Given the description of an element on the screen output the (x, y) to click on. 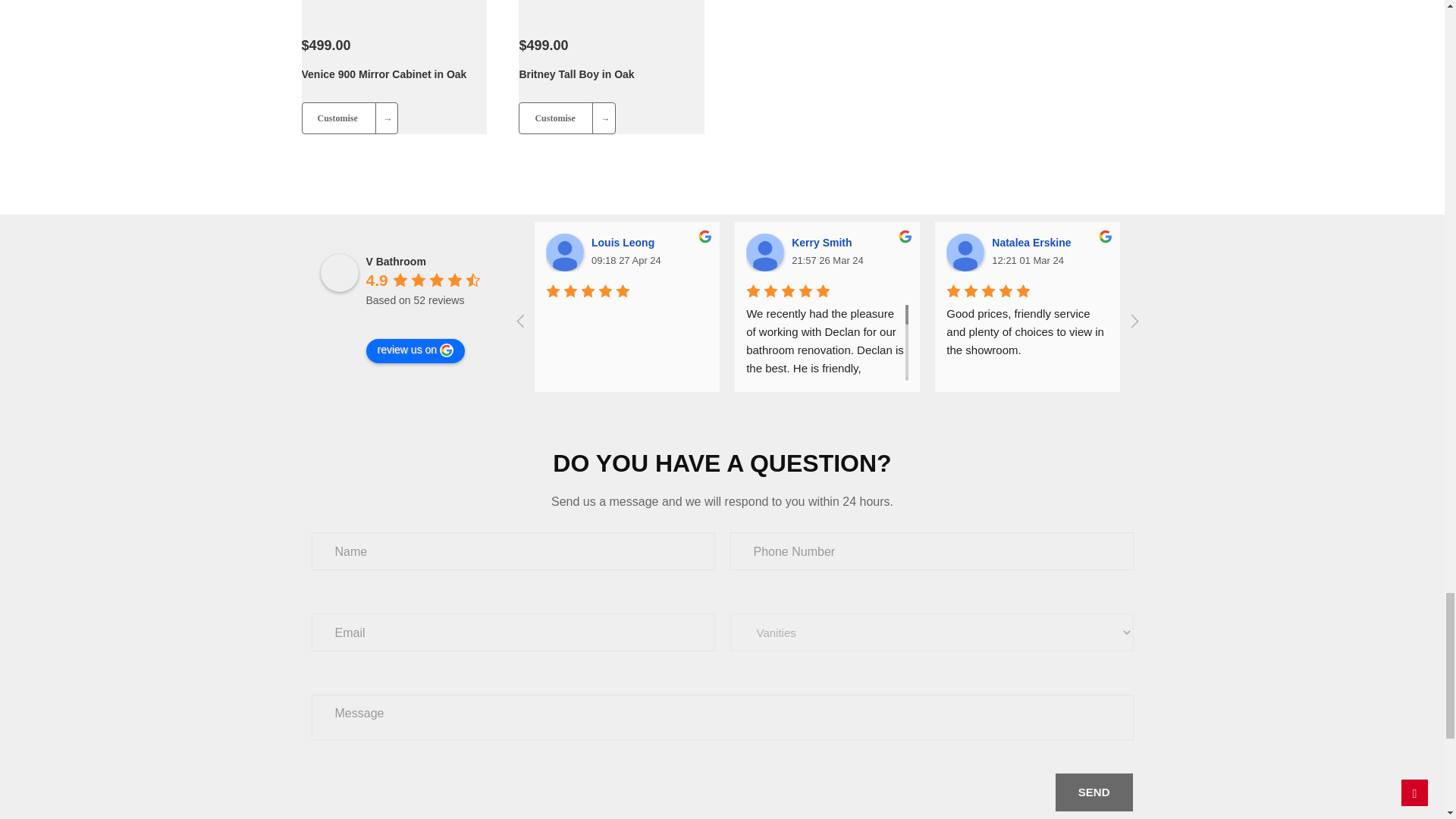
Louis Leong (564, 252)
V Bathroom (339, 272)
Kerry Smith (764, 252)
SEND (1093, 792)
powered by Google (419, 318)
